Given the description of an element on the screen output the (x, y) to click on. 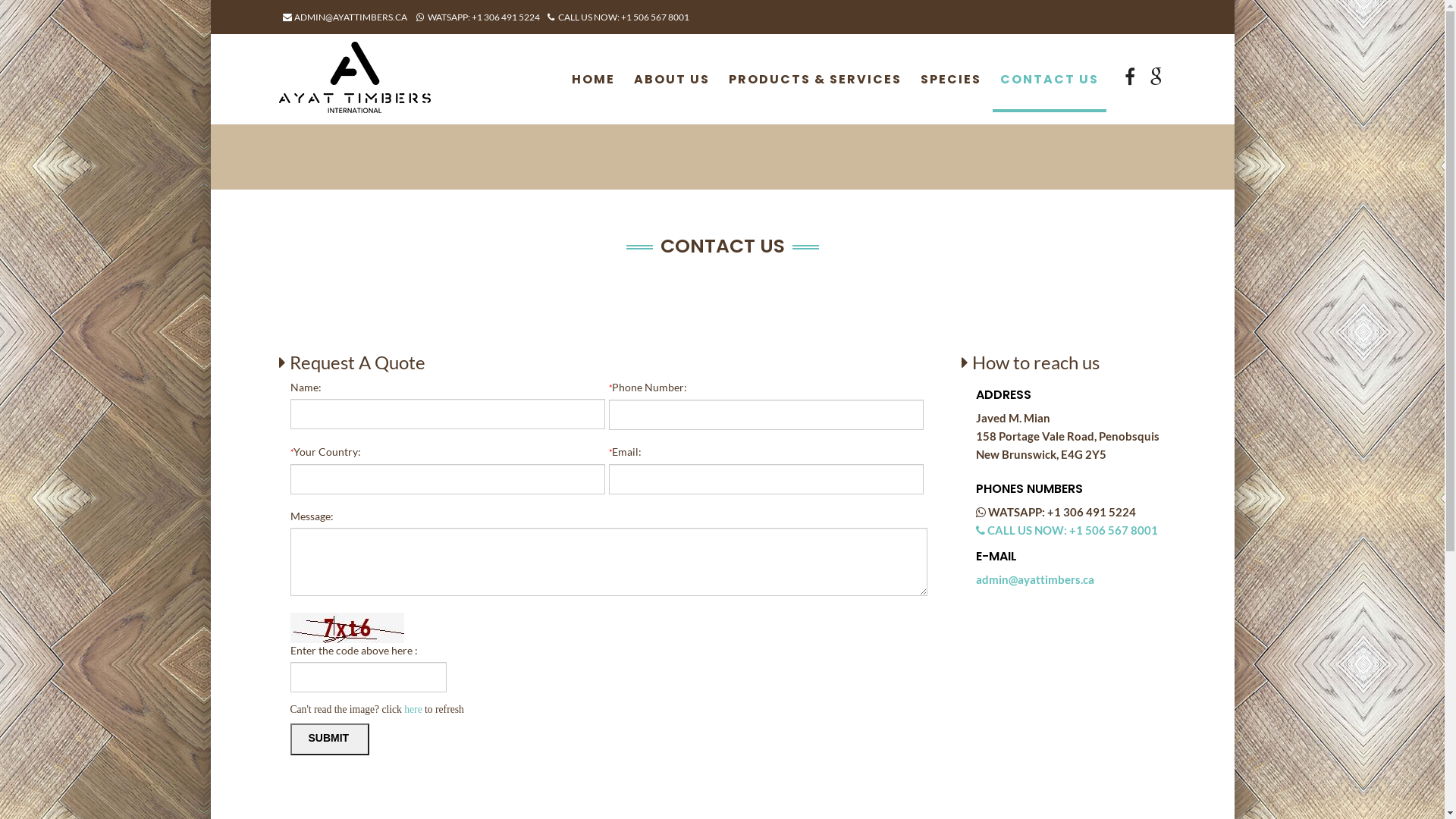
SUBMIT Element type: text (329, 739)
HOME Element type: text (593, 92)
ABOUT US Element type: text (671, 92)
PRODUCTS & SERVICES Element type: text (814, 92)
SPECIES Element type: text (950, 92)
here Element type: text (412, 709)
ADMIN@AYATTIMBERS.CA Element type: text (344, 16)
WATSAPP: +1 306 491 5224 Element type: text (477, 16)
CALL US NOW: +1 506 567 8001 Element type: text (1066, 529)
CALL US NOW: +1 506 567 8001 Element type: text (618, 16)
admin@ayattimbers.ca Element type: text (1034, 579)
CONTACT US Element type: text (1048, 92)
